Given the description of an element on the screen output the (x, y) to click on. 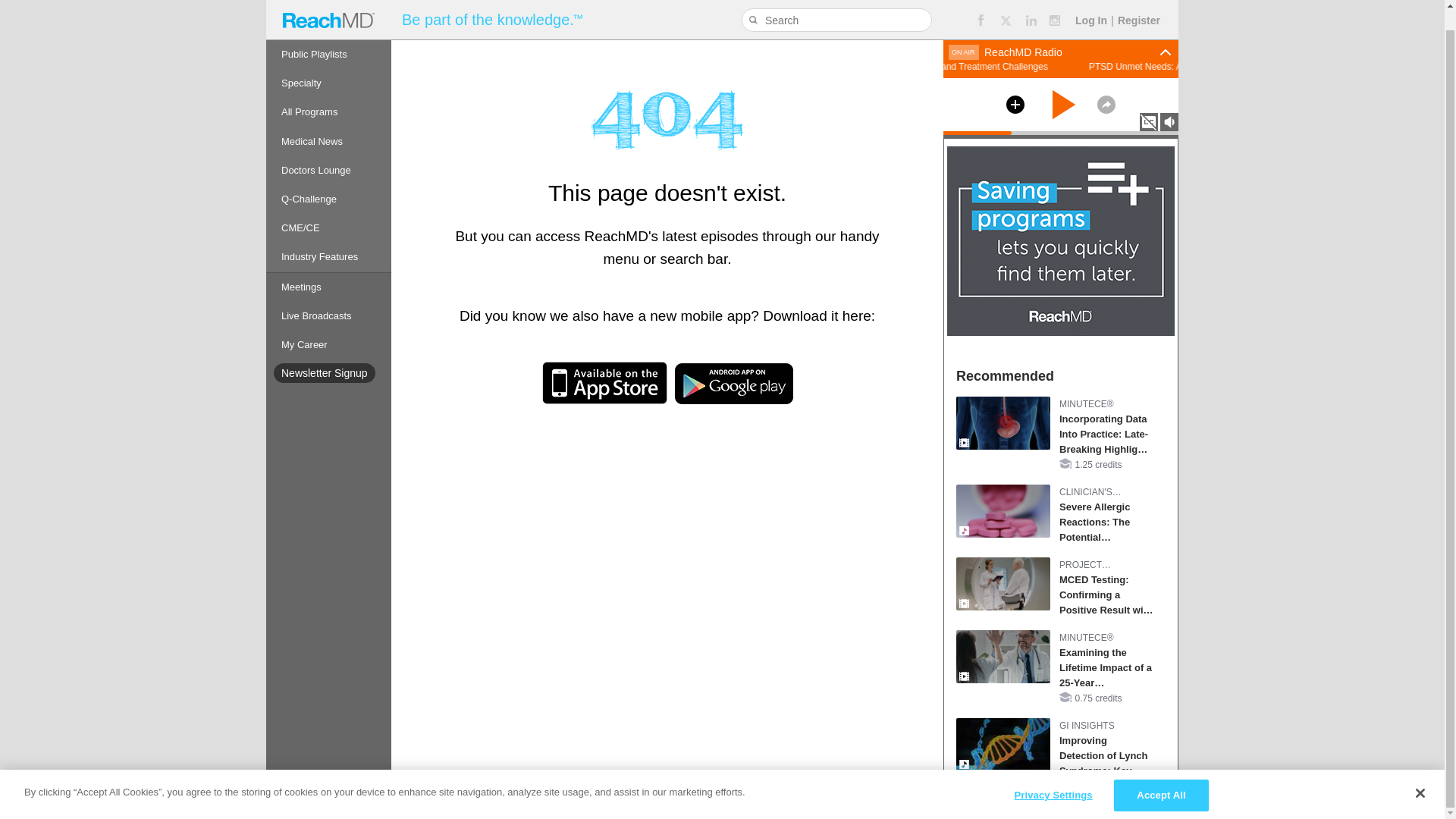
Specialty (328, 63)
Twitter (1004, 6)
All Programs (328, 92)
Instagram (1055, 6)
Facebook (980, 6)
ReachMD (328, 10)
Log In (1090, 3)
Linked in (1030, 6)
Public Playlists (328, 34)
Register (1139, 3)
